Given the description of an element on the screen output the (x, y) to click on. 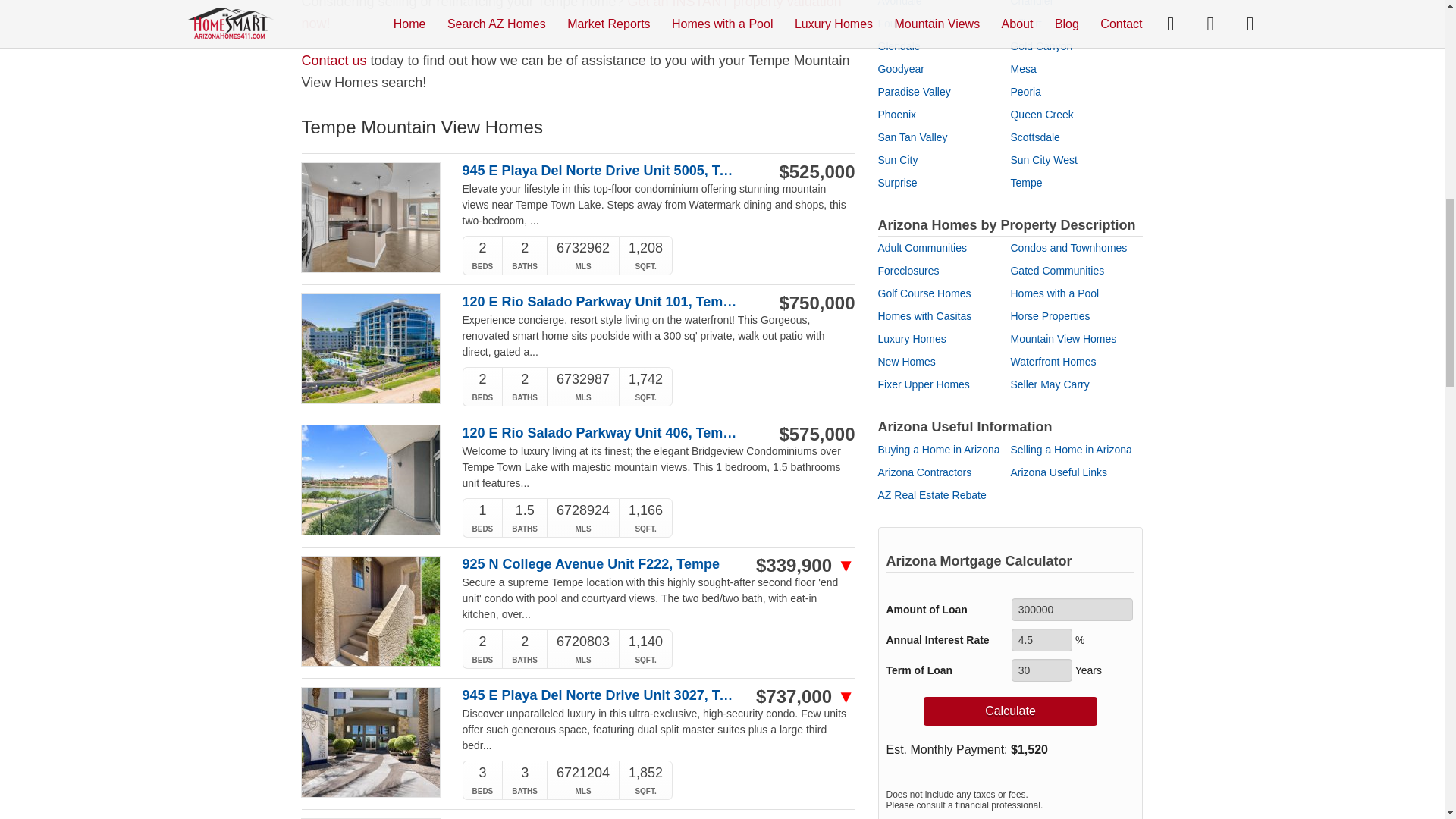
Contact us (333, 60)
300000 (1072, 609)
120 E Rio Salado Parkway Unit 406, Tempe (600, 433)
945 E Playa Del Norte Drive Unit 5005, Tempe (600, 170)
925 N College Avenue Unit F222, Tempe (600, 564)
4.5 (1041, 639)
30 (1041, 670)
945 E Playa Del Norte Drive Unit 3027, Tempe (600, 695)
120 E Rio Salado Parkway Unit 101, Tempe (600, 302)
Get an INSTANT property valuation now! (571, 15)
